Given the description of an element on the screen output the (x, y) to click on. 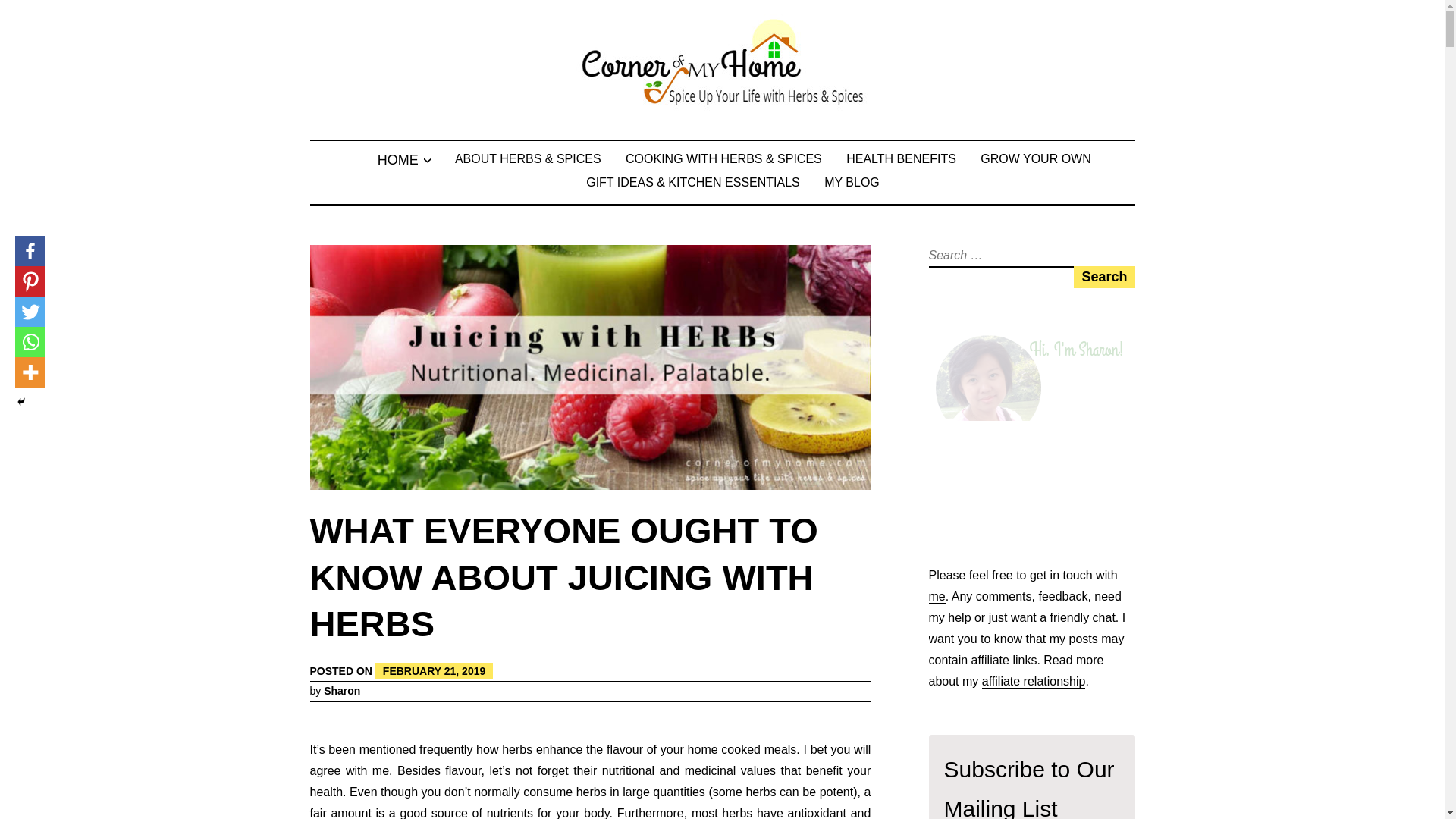
Twitter (29, 311)
More (29, 372)
Sharon (341, 690)
Facebook (29, 250)
Search (1104, 276)
MY BLOG (851, 182)
Whatsapp (29, 341)
HOME (398, 159)
Search (1104, 276)
GROW YOUR OWN (1034, 157)
